Given the description of an element on the screen output the (x, y) to click on. 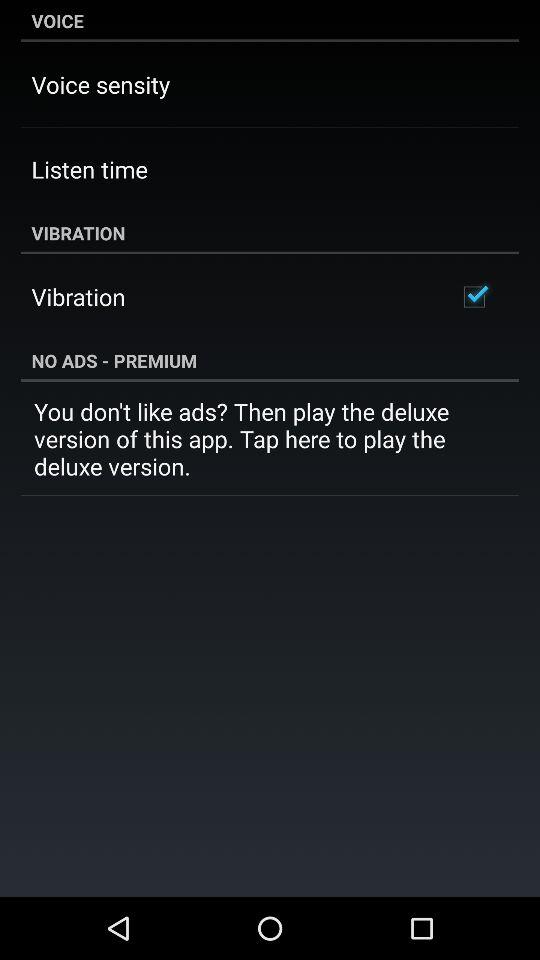
jump to the voice sensity (100, 84)
